Given the description of an element on the screen output the (x, y) to click on. 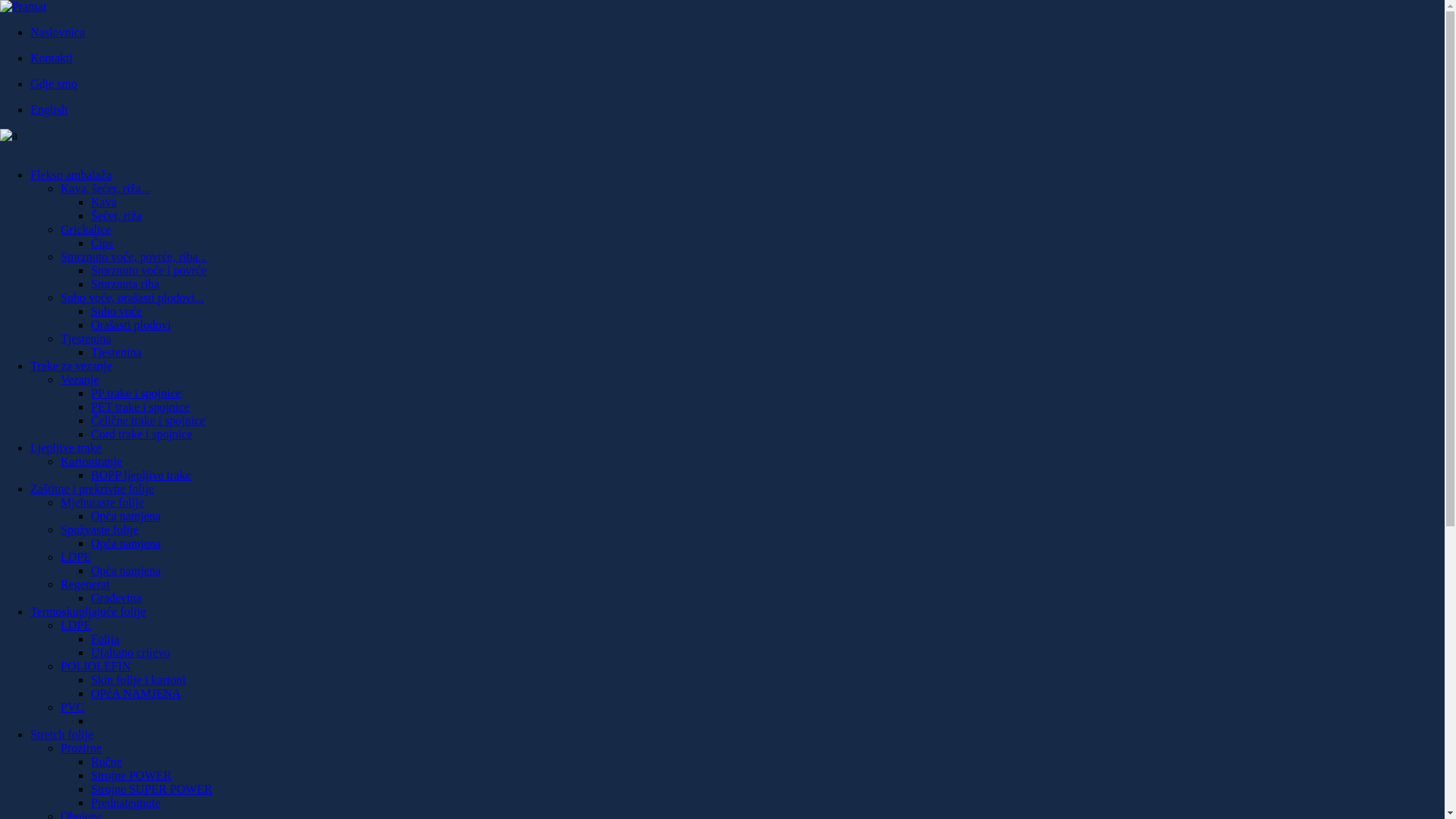
Stretch folije Element type: text (61, 734)
Naslovnica Element type: text (57, 31)
PVC Element type: text (72, 706)
Ljepljive trake Element type: text (65, 447)
Vezanje Element type: text (79, 379)
POLIOLEFIN Element type: text (95, 665)
BOPP ljepljive trake Element type: text (141, 474)
Strojne SUPER POWER Element type: text (151, 788)
Kava Element type: text (103, 201)
Trake za vezanje Element type: text (71, 365)
Ufaltano crijevo Element type: text (130, 652)
Folija Element type: text (105, 638)
PET trake i spojnice Element type: text (140, 406)
Mjehuraste folije Element type: text (102, 501)
LDPE Element type: text (75, 556)
Grickalice Element type: text (85, 228)
English Element type: text (48, 109)
Tjestenina Element type: text (85, 338)
Kartoniranje Element type: text (91, 461)
Strojne POWER Element type: text (131, 774)
Gdje smo Element type: text (53, 83)
Cord trake i spojnice Element type: text (141, 433)
Tjestenina Element type: text (116, 351)
Regenerat Element type: text (84, 583)
Smrznuta riba Element type: text (125, 283)
Prozirne Element type: text (80, 747)
Skin folije i kartoni Element type: text (138, 679)
Prednategnute Element type: text (125, 802)
PP trake i spojnice Element type: text (136, 392)
Kontakti Element type: text (51, 57)
LDPE Element type: text (75, 624)
